Given the description of an element on the screen output the (x, y) to click on. 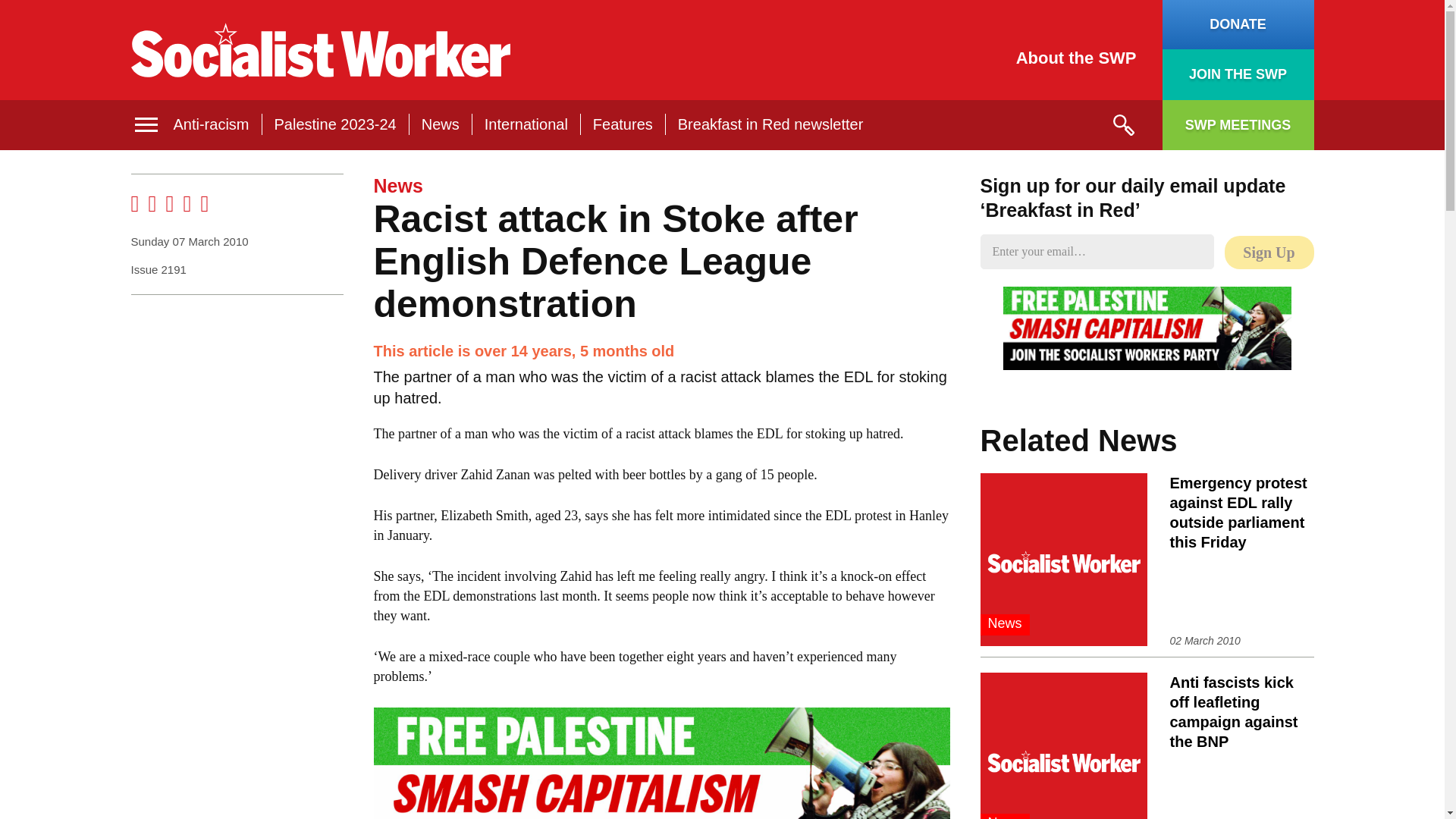
JOIN THE SWP (1237, 74)
Sign Up (1268, 252)
DONATE (1237, 24)
SWP MEETINGS (1237, 124)
Submit (1123, 124)
Palestine 2023-24 (335, 124)
About the SWP (1076, 57)
Breakfast in Red newsletter (770, 124)
Search Button (1123, 124)
Anti-racism (210, 124)
